Given the description of an element on the screen output the (x, y) to click on. 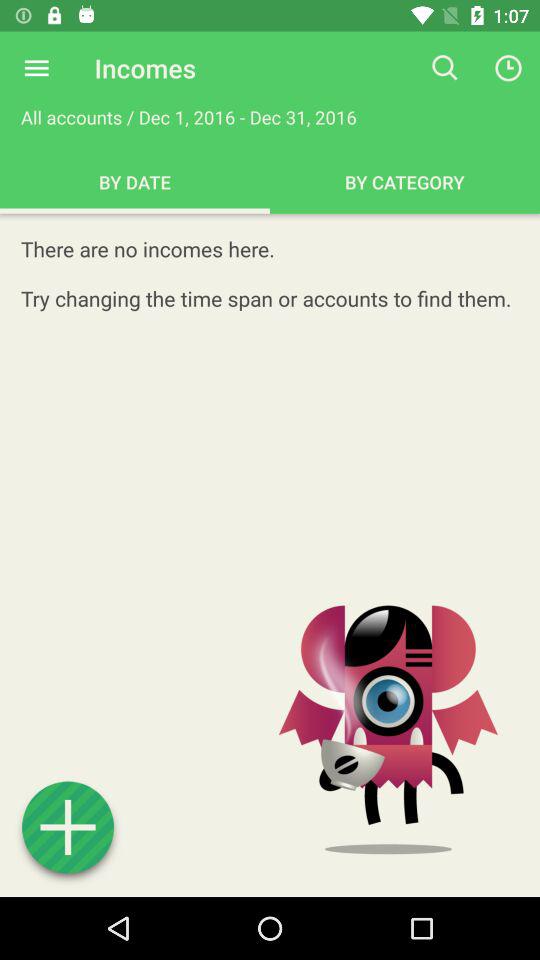
open menu (36, 68)
